Given the description of an element on the screen output the (x, y) to click on. 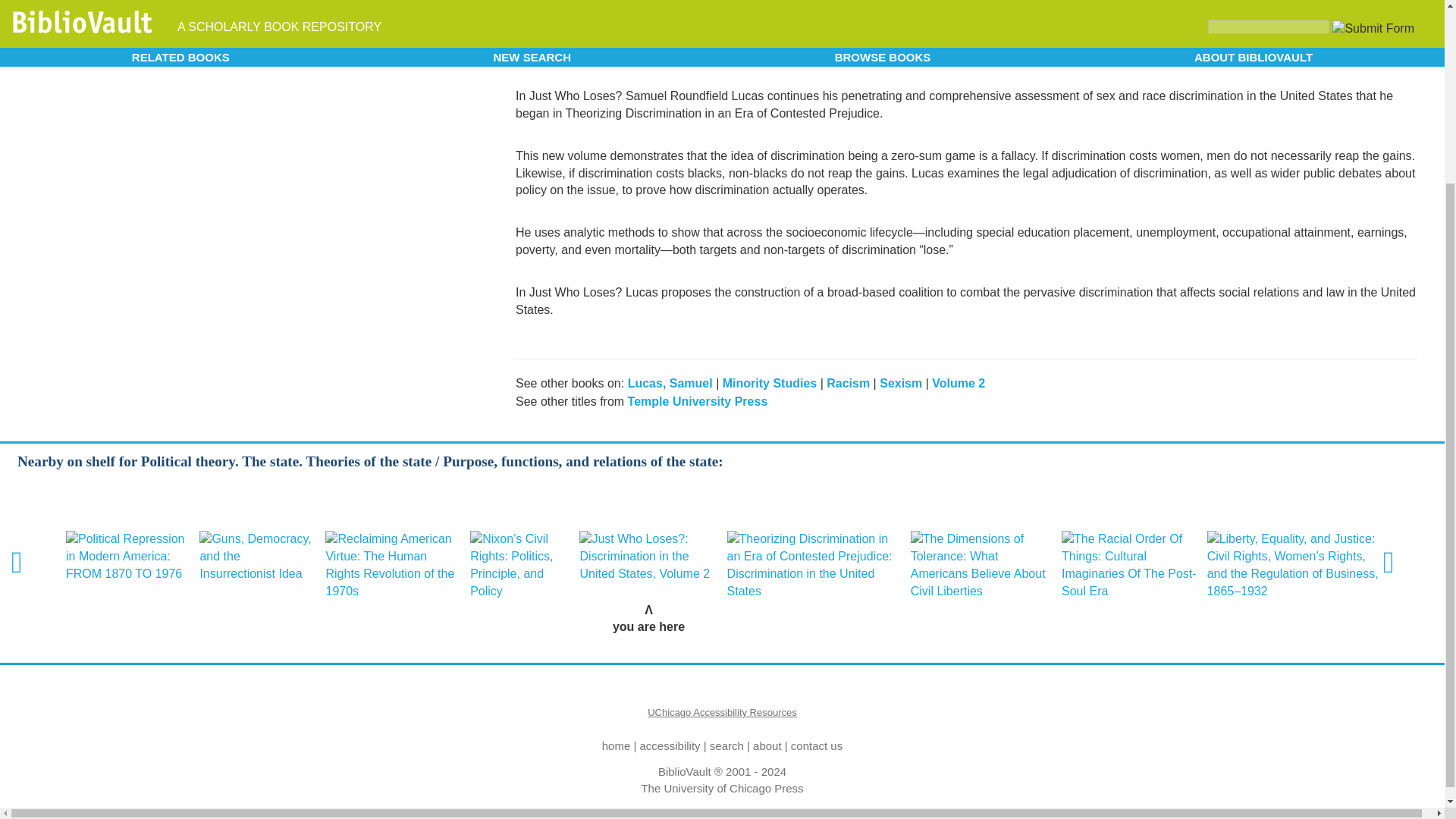
Political Repression in Modern America: FROM 1870 TO 1976 (128, 556)
Guns, Democracy, and the Insurrectionist Idea (257, 556)
